Given the description of an element on the screen output the (x, y) to click on. 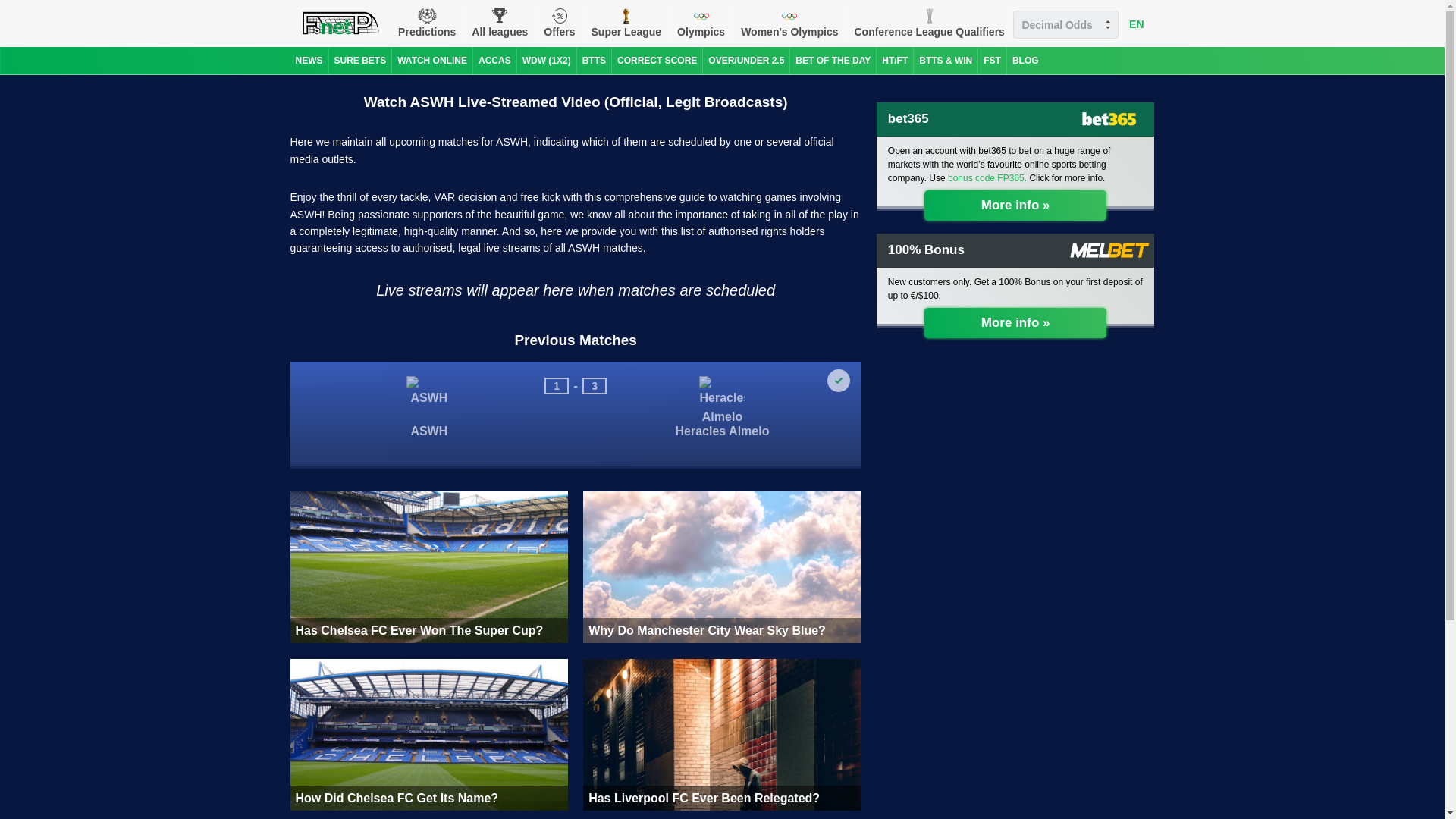
ACCAS (494, 60)
Has Chelsea FC Ever Won The Super Cup? (428, 566)
BLOG (1025, 60)
WATCH ONLINE (431, 60)
Has Liverpool FC Ever Been Relegated? (722, 734)
ASWH (428, 449)
Predictions (426, 22)
NEWS (308, 60)
Super League (626, 22)
Offers (558, 22)
BET OF THE DAY (833, 60)
Olympics (700, 22)
FST (992, 60)
Women's Olympics (789, 22)
CORRECT SCORE (656, 60)
